Given the description of an element on the screen output the (x, y) to click on. 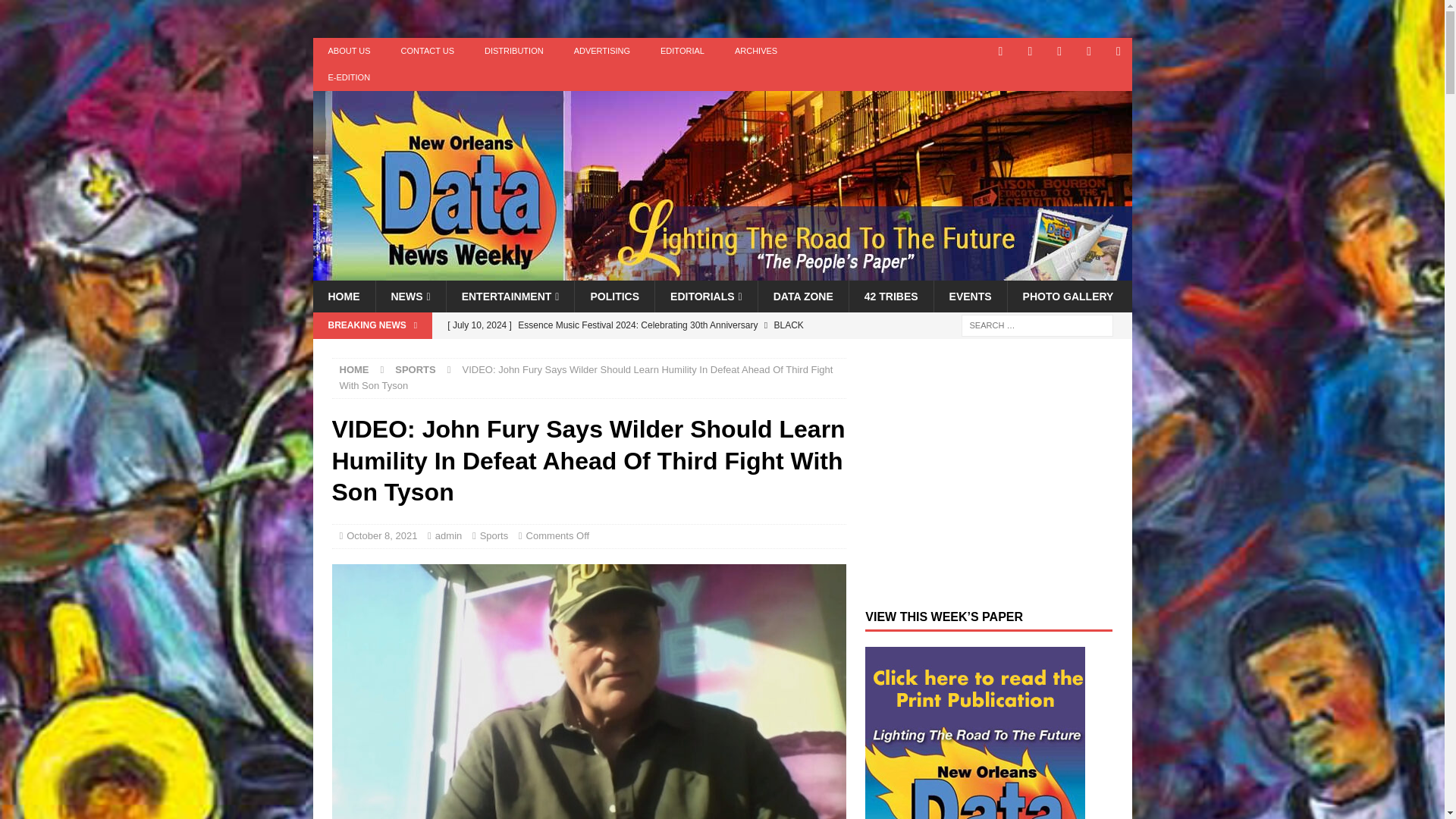
ABOUT US (349, 50)
CONTACT US (427, 50)
Essence Music Festival 2024: Celebrating 30th Anniversary (640, 337)
DISTRIBUTION (513, 50)
E-EDITION (349, 77)
New Orleans Data News Weekly (722, 272)
8fbb1baa-b536-48f4-a65e-231cb011cb88-1 (588, 691)
ARCHIVES (755, 50)
HOME (343, 296)
EDITORIAL (682, 50)
ADVERTISING (602, 50)
